Given the description of an element on the screen output the (x, y) to click on. 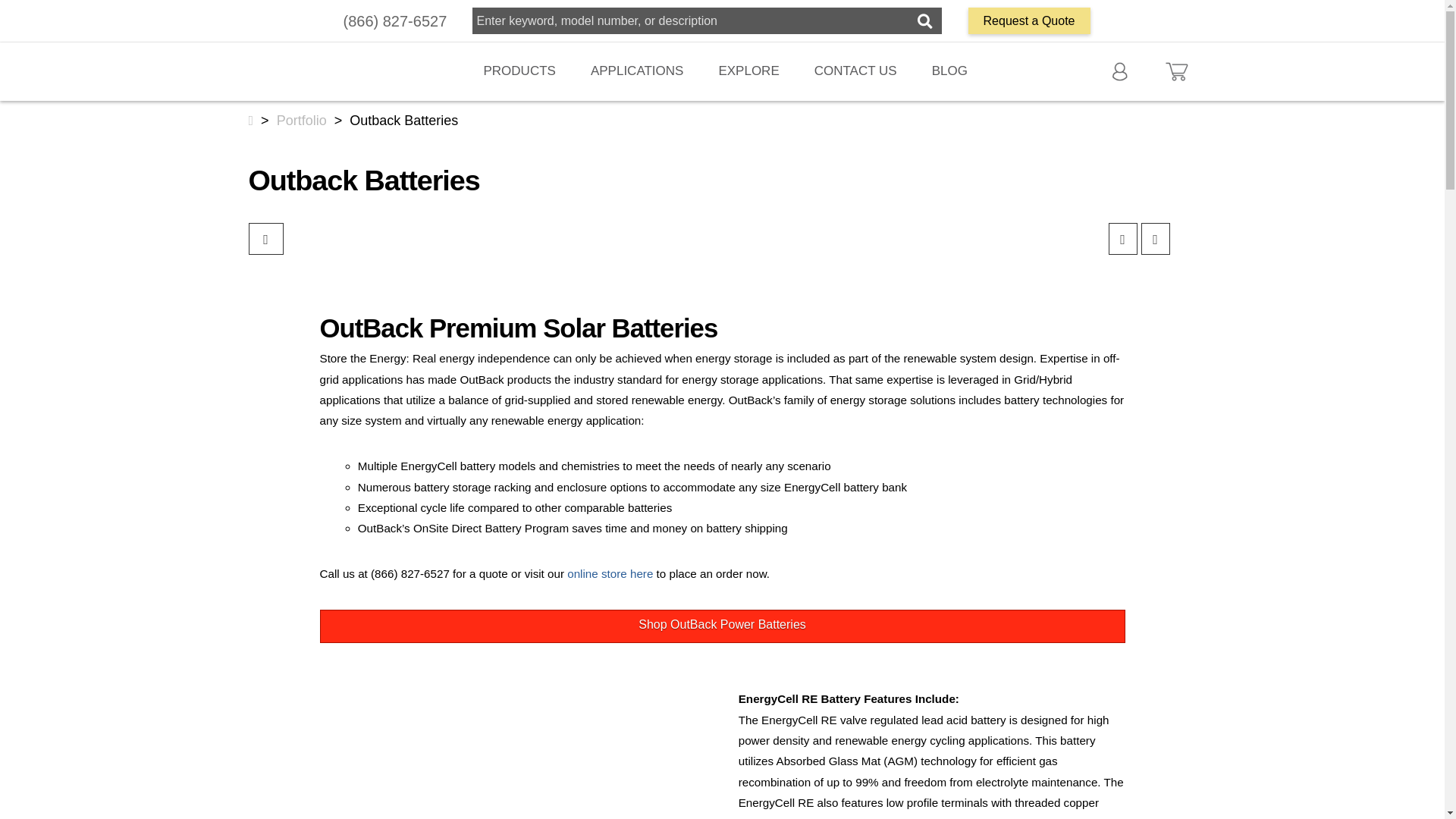
APPLICATIONS (639, 70)
PRODUCTS (521, 70)
Request a Quote (1029, 20)
SunWizeConnect (513, 757)
Go to Portfolio. (301, 120)
